Given the description of an element on the screen output the (x, y) to click on. 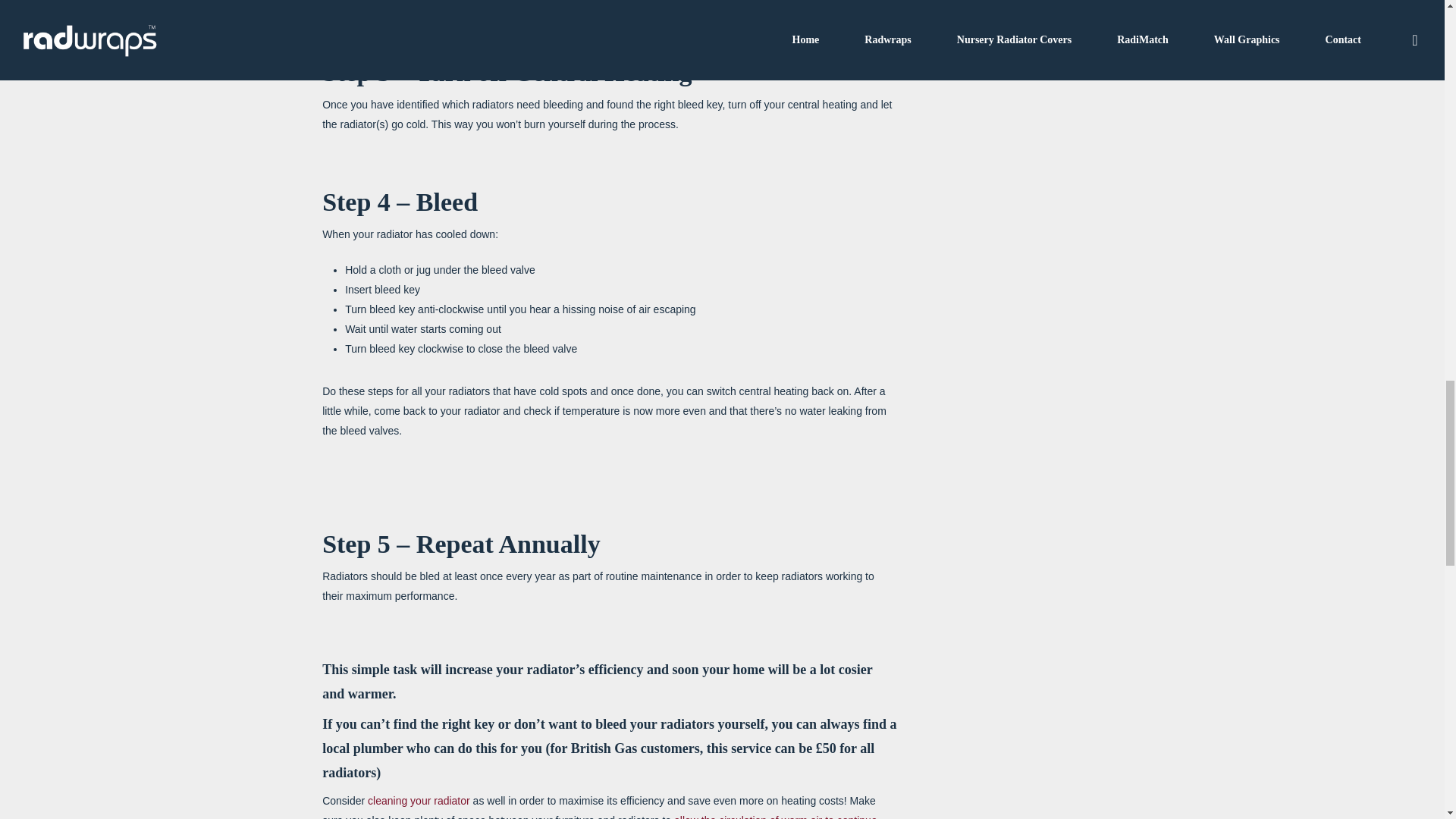
cleaning your radiator (419, 800)
allow the circulation of warm air to continue (775, 816)
